Given the description of an element on the screen output the (x, y) to click on. 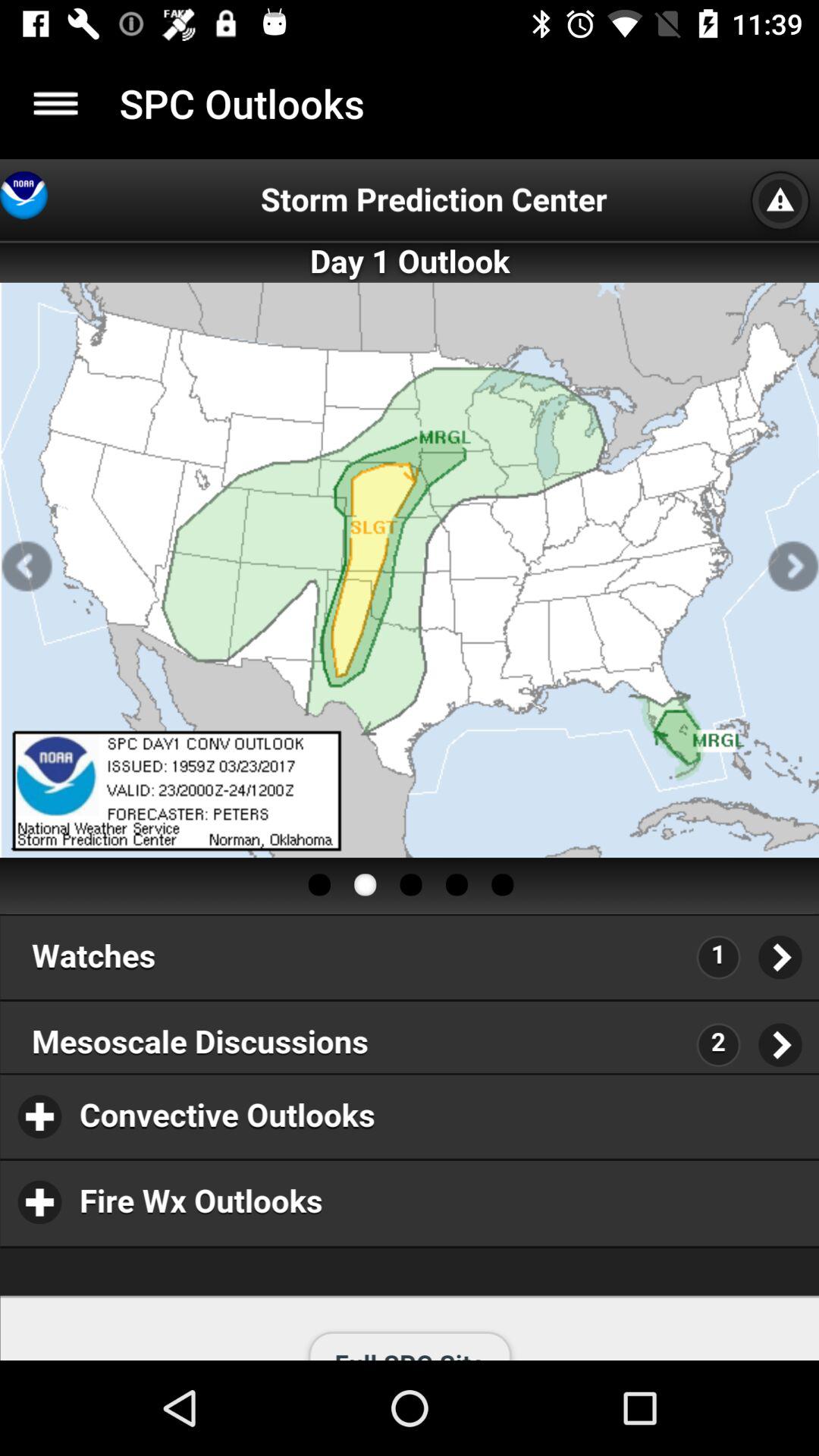
button is useed to share the article (55, 103)
